Given the description of an element on the screen output the (x, y) to click on. 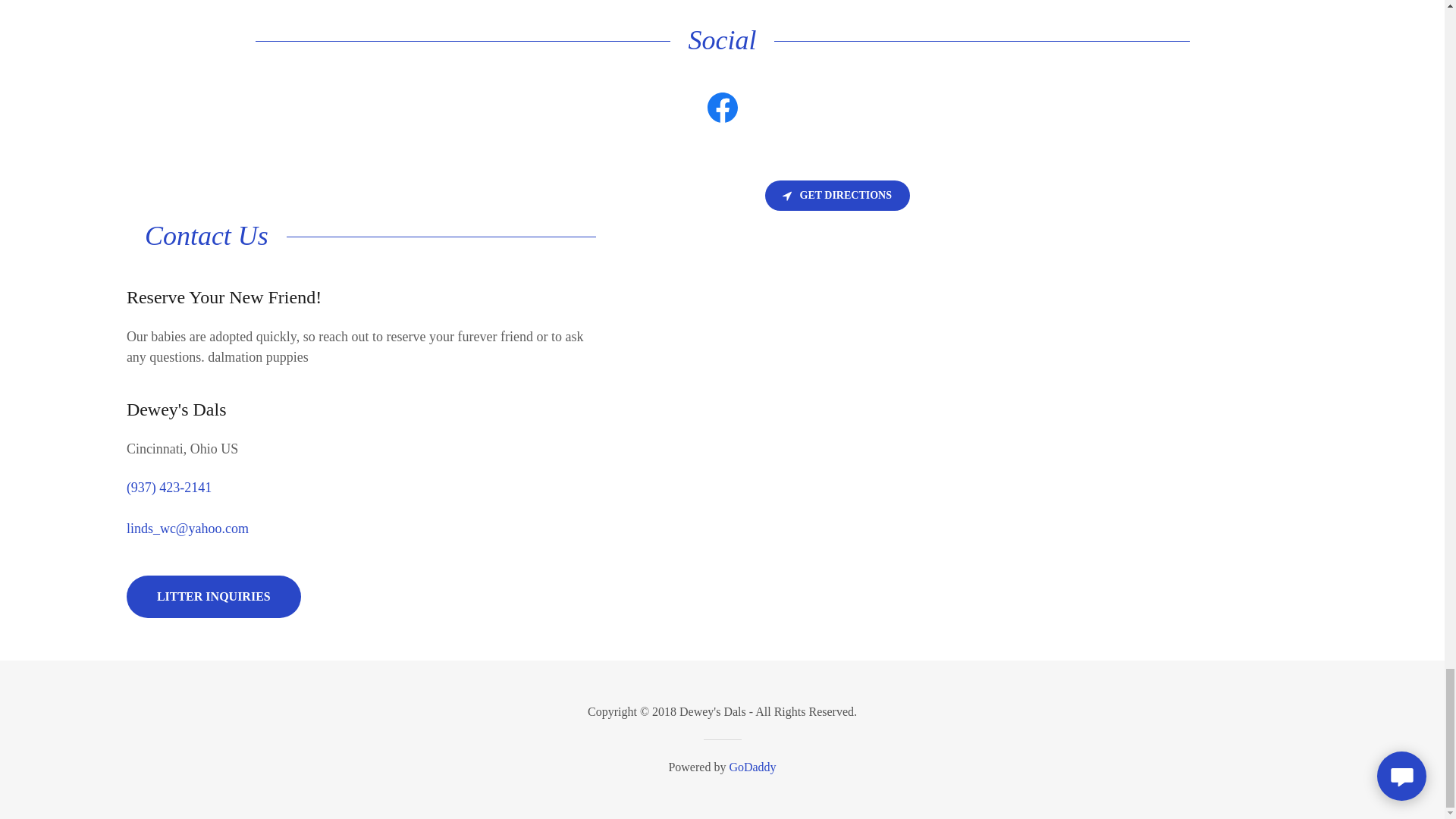
GoDaddy (752, 766)
LITTER INQUIRIES (213, 596)
GET DIRECTIONS (837, 195)
